Given the description of an element on the screen output the (x, y) to click on. 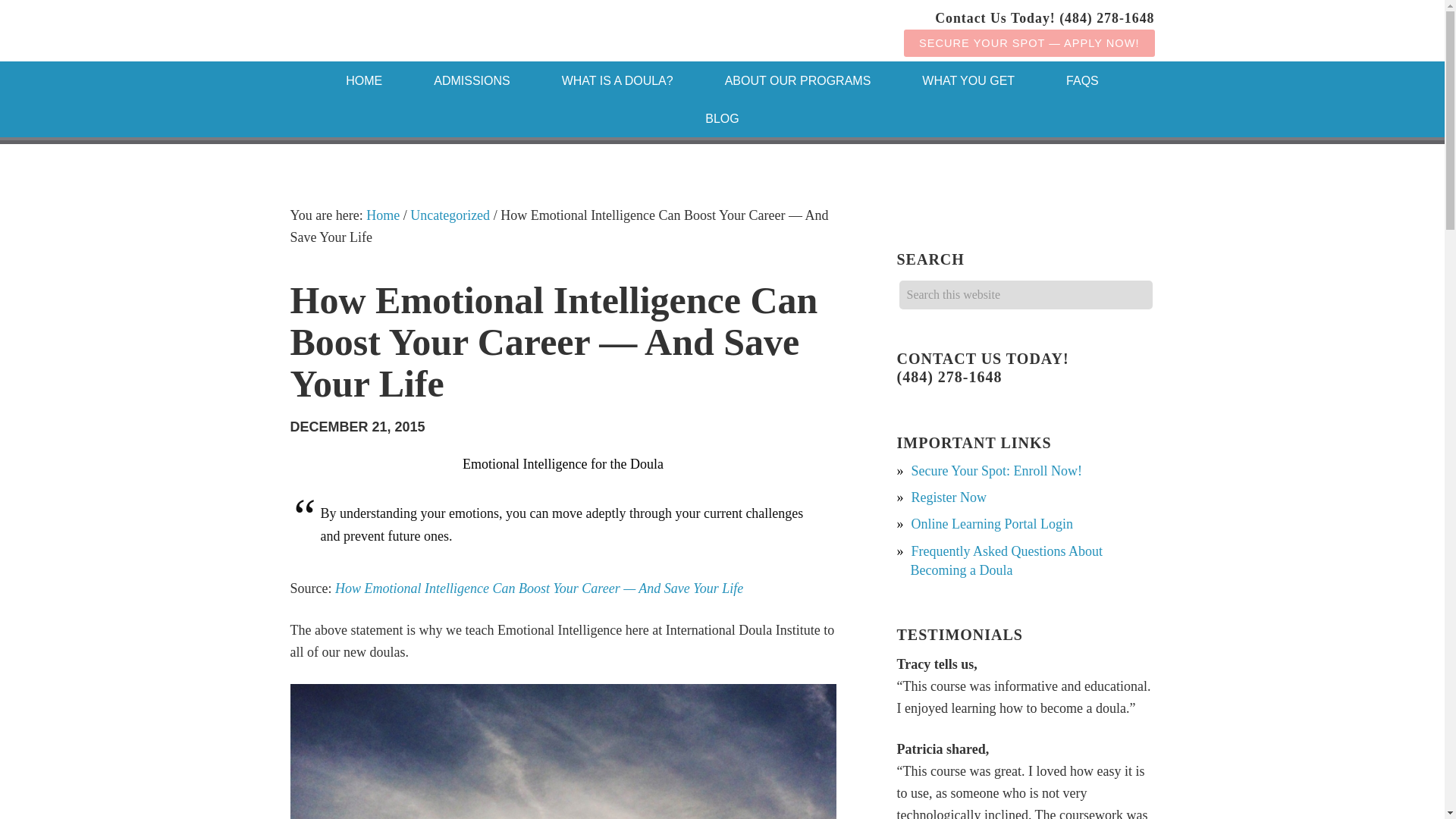
Admissions (471, 80)
What Is a Doula? (616, 80)
Uncategorized (449, 215)
About The Program (797, 80)
WHAT YOU GET (968, 80)
FAQS (1082, 80)
ABOUT OUR PROGRAMS (797, 80)
INTERNATIONAL DOULA INSTITUTE (410, 30)
BLOG (721, 118)
Home (363, 80)
WHAT IS A DOULA? (616, 80)
Home (382, 215)
HOME (363, 80)
